Given the description of an element on the screen output the (x, y) to click on. 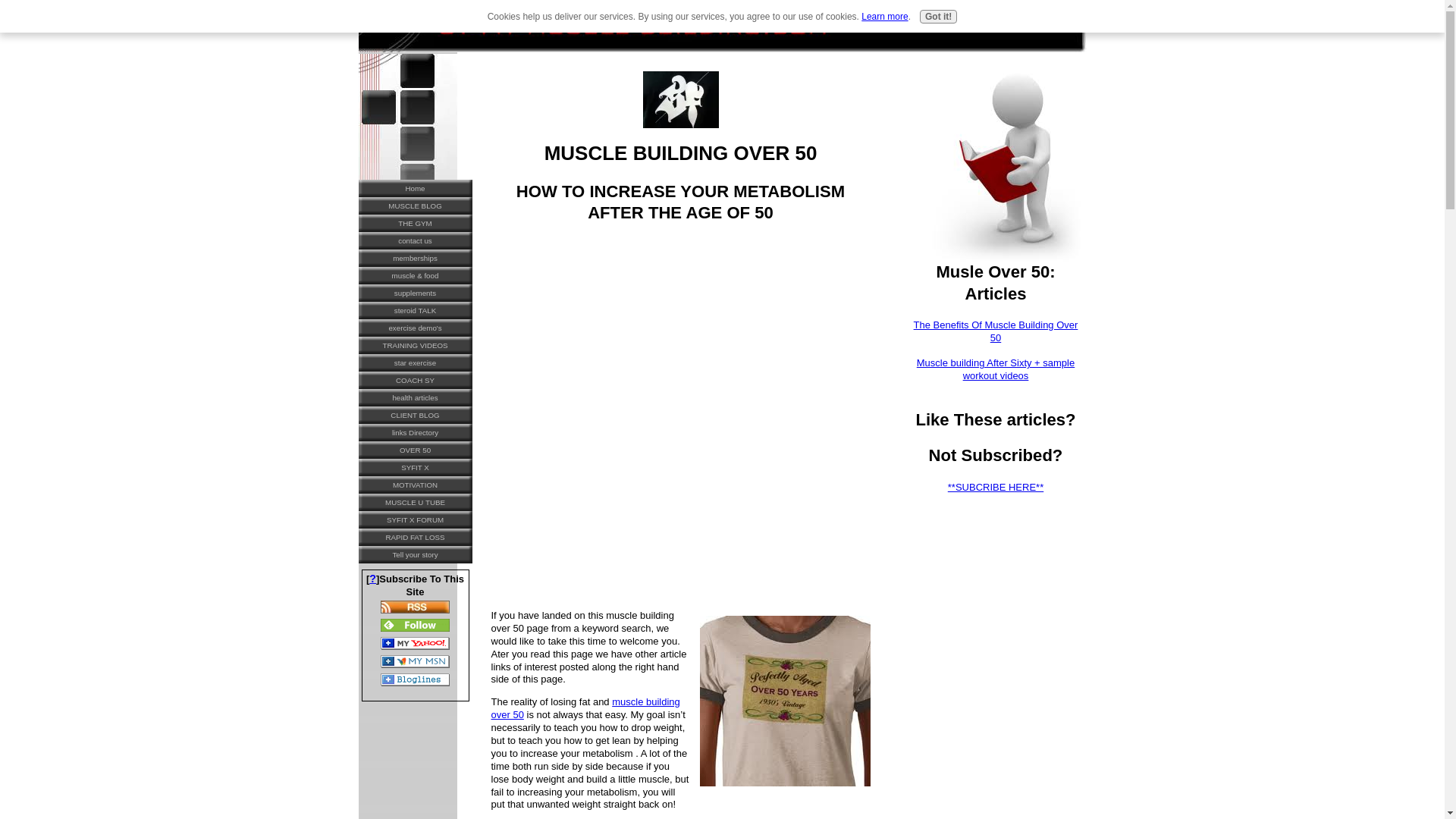
contact us (414, 240)
MUSCLE BLOG (414, 205)
Home (414, 188)
COACH SY (414, 380)
star exercise (414, 362)
steroid TALK (414, 310)
RAPID FAT LOSS (414, 537)
THE GYM (414, 222)
Advertisement (567, 475)
exercise demo's (414, 327)
MUSCLE U TUBE (414, 502)
links Directory (414, 432)
memberships (414, 257)
Tell your story (414, 554)
The Benefits Of Muscle Building Over 50 (996, 331)
